Given the description of an element on the screen output the (x, y) to click on. 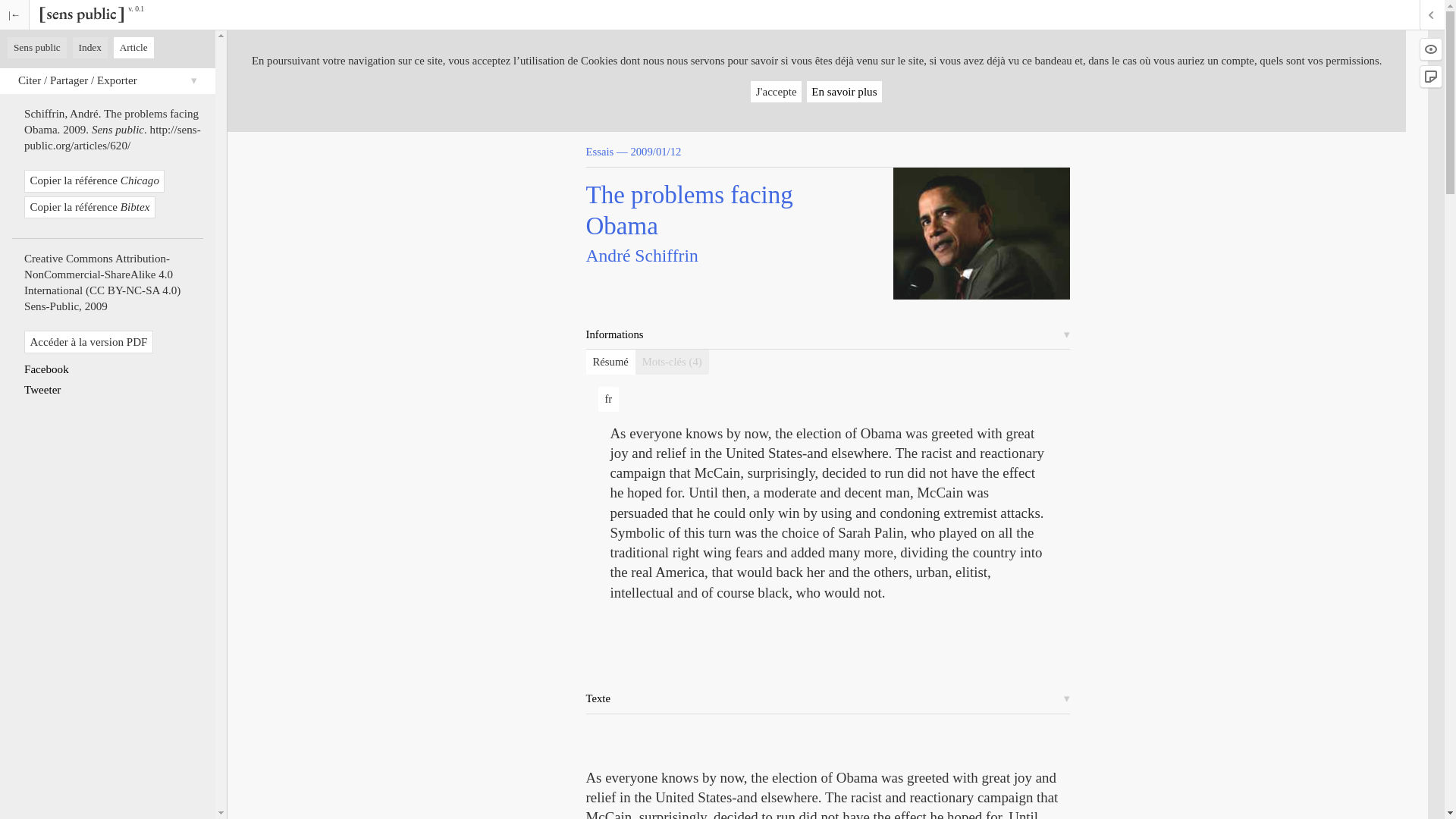
navigation (36, 47)
Article (133, 47)
Index (89, 47)
Sens public (36, 47)
page (133, 47)
index (89, 47)
menu (14, 14)
